Given the description of an element on the screen output the (x, y) to click on. 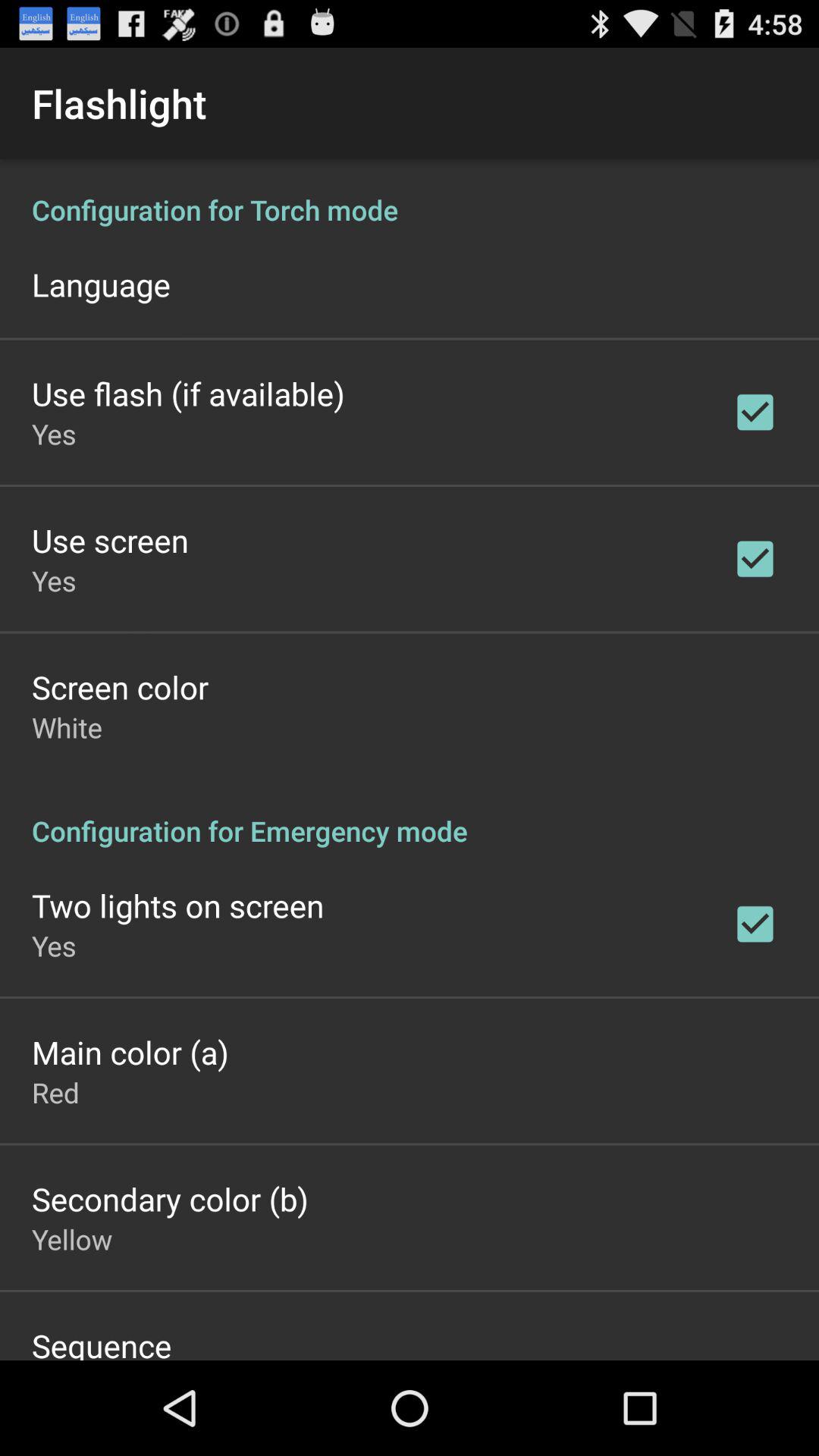
tap the sequence item (101, 1342)
